Given the description of an element on the screen output the (x, y) to click on. 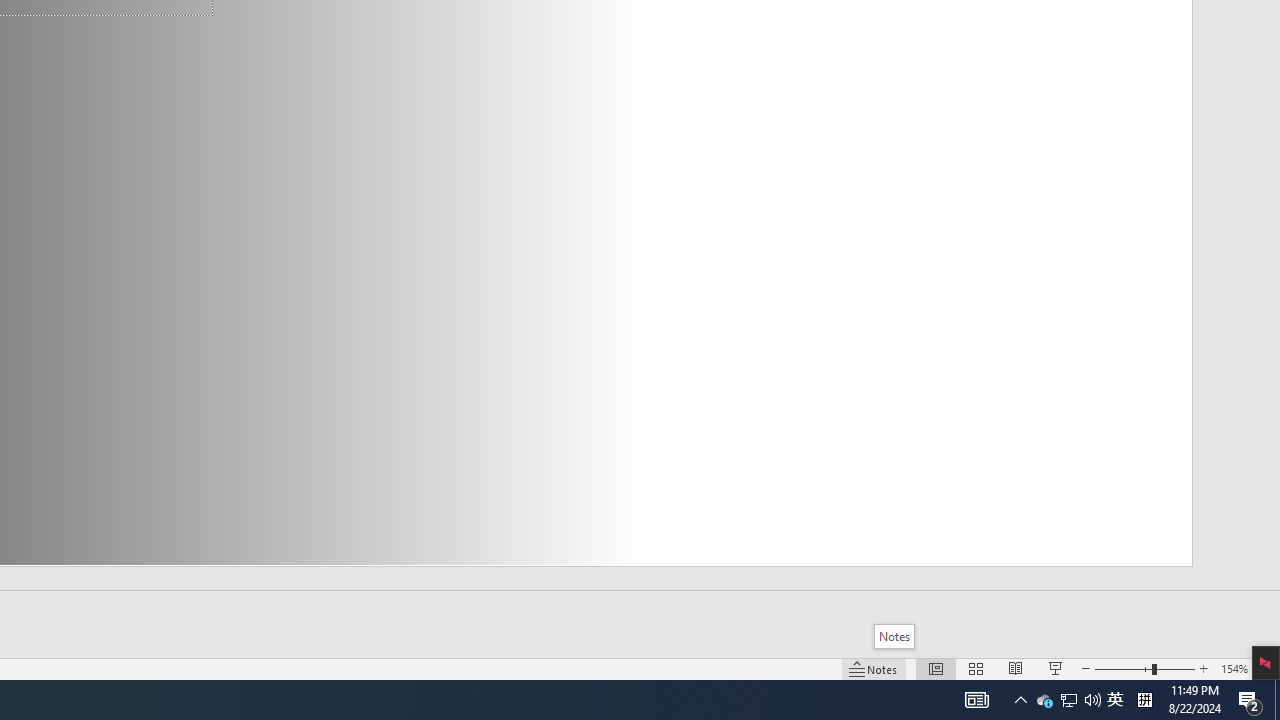
Zoom 154% (1234, 668)
Notes (894, 636)
